Given the description of an element on the screen output the (x, y) to click on. 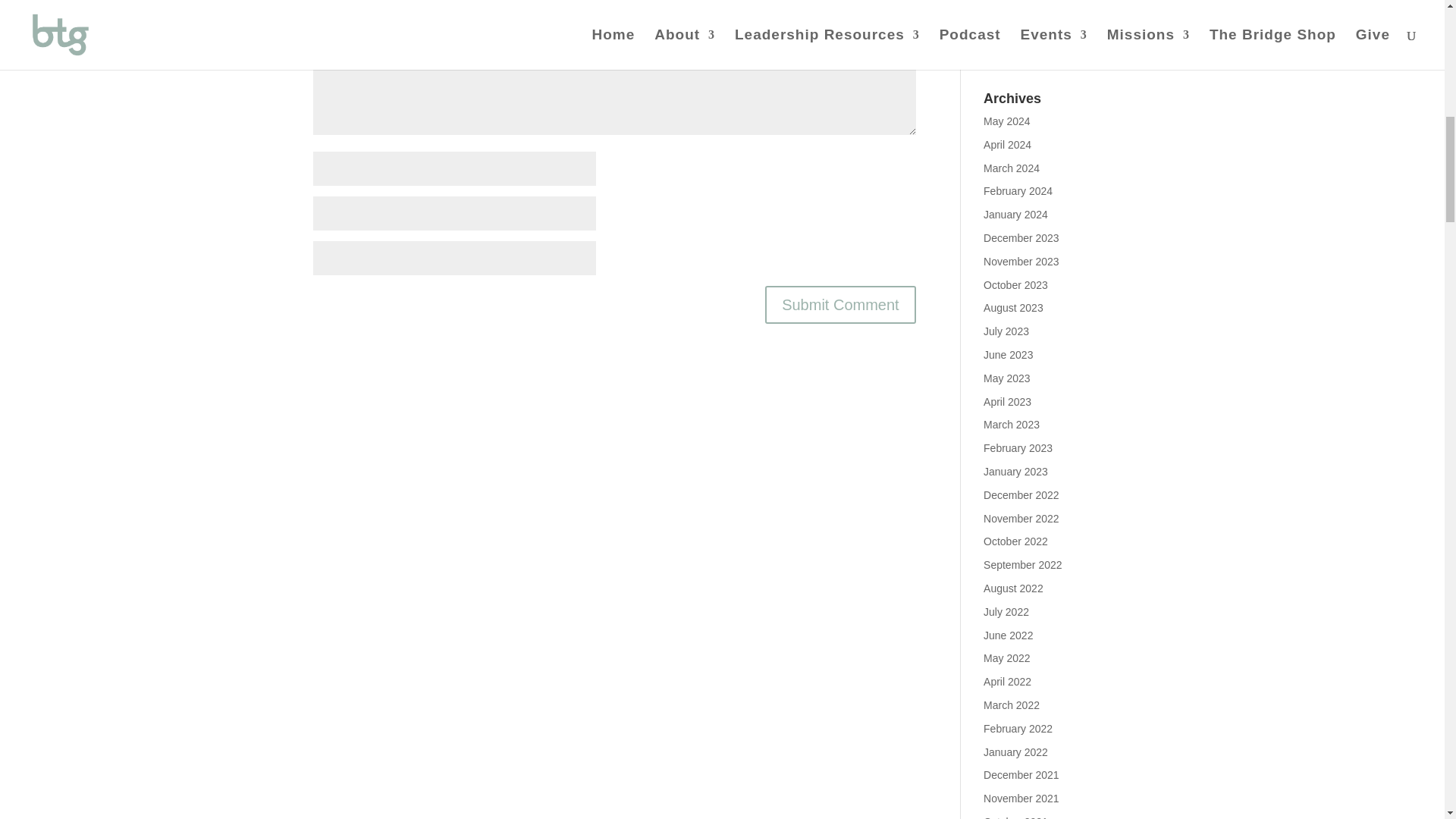
Submit Comment (840, 304)
